Given the description of an element on the screen output the (x, y) to click on. 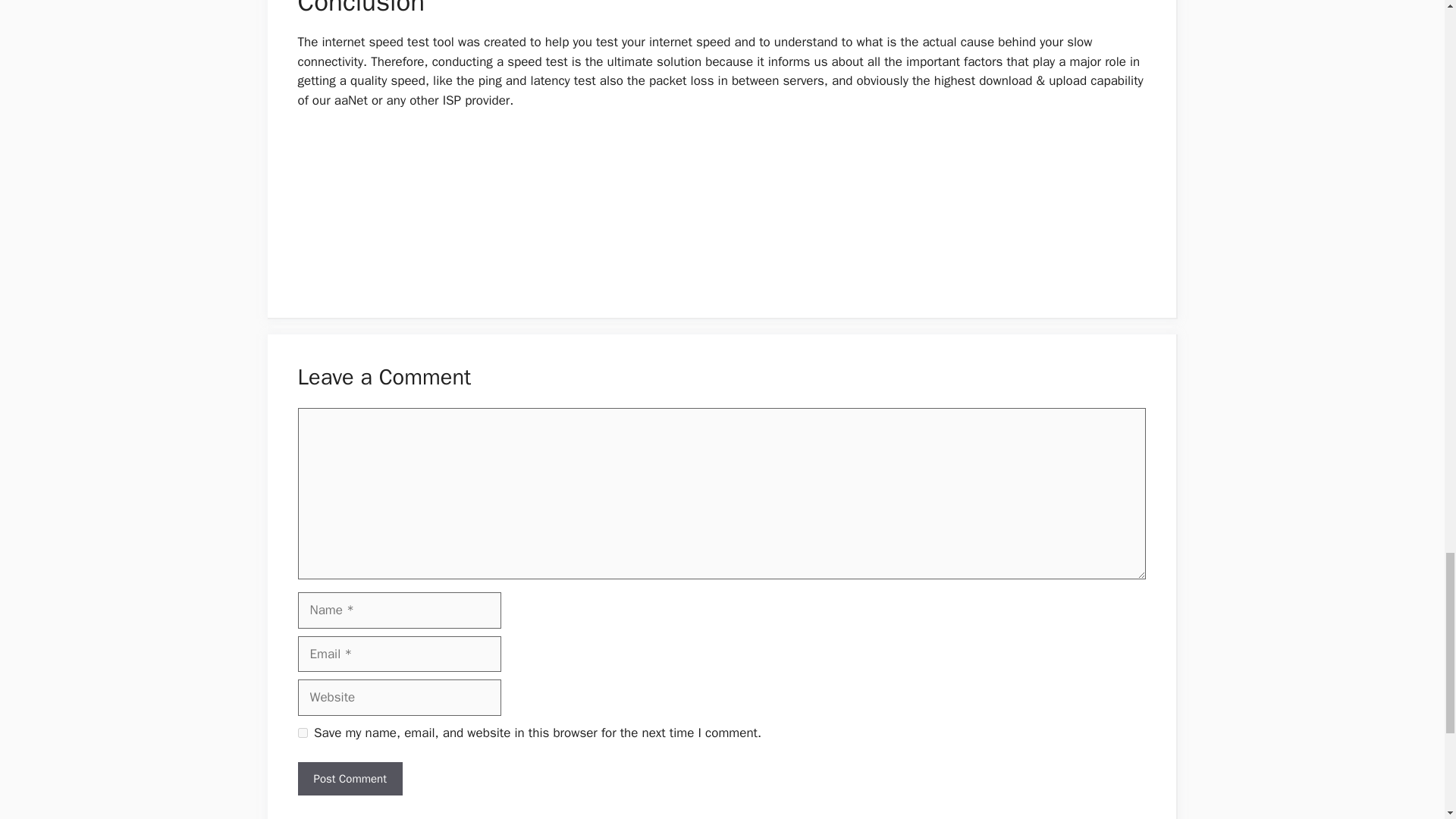
Post Comment (349, 779)
yes (302, 732)
Post Comment (349, 779)
